Given the description of an element on the screen output the (x, y) to click on. 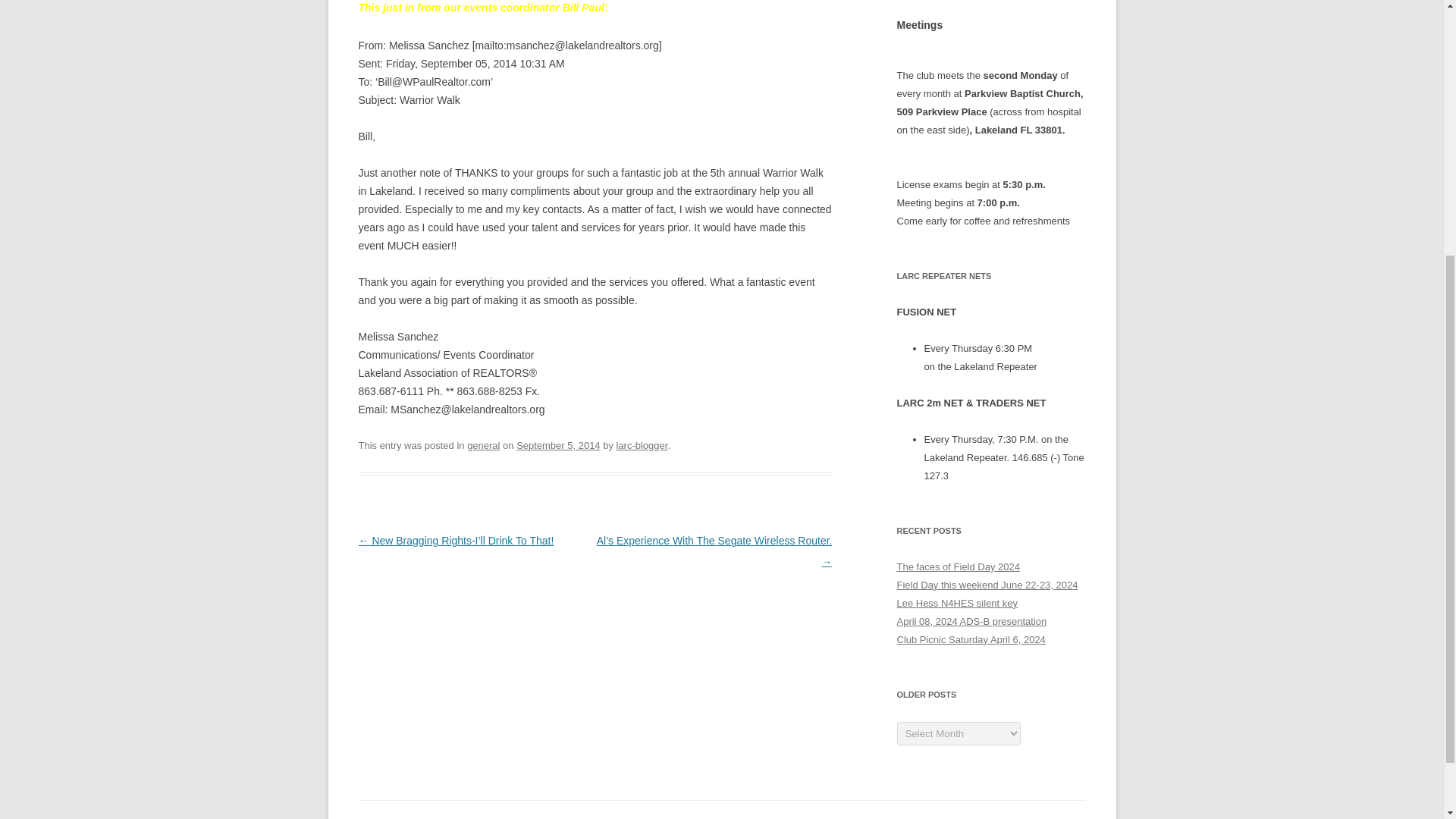
larc-blogger (641, 444)
Field Day this weekend June 22-23, 2024 (986, 584)
September 5, 2014 (557, 444)
April 08, 2024 ADS-B presentation (971, 621)
Lee Hess N4HES silent key (956, 603)
10:34 pm (557, 444)
general (483, 444)
The faces of Field Day 2024 (957, 566)
View all posts by larc-blogger (641, 444)
Club Picnic Saturday April 6, 2024 (970, 639)
